Given the description of an element on the screen output the (x, y) to click on. 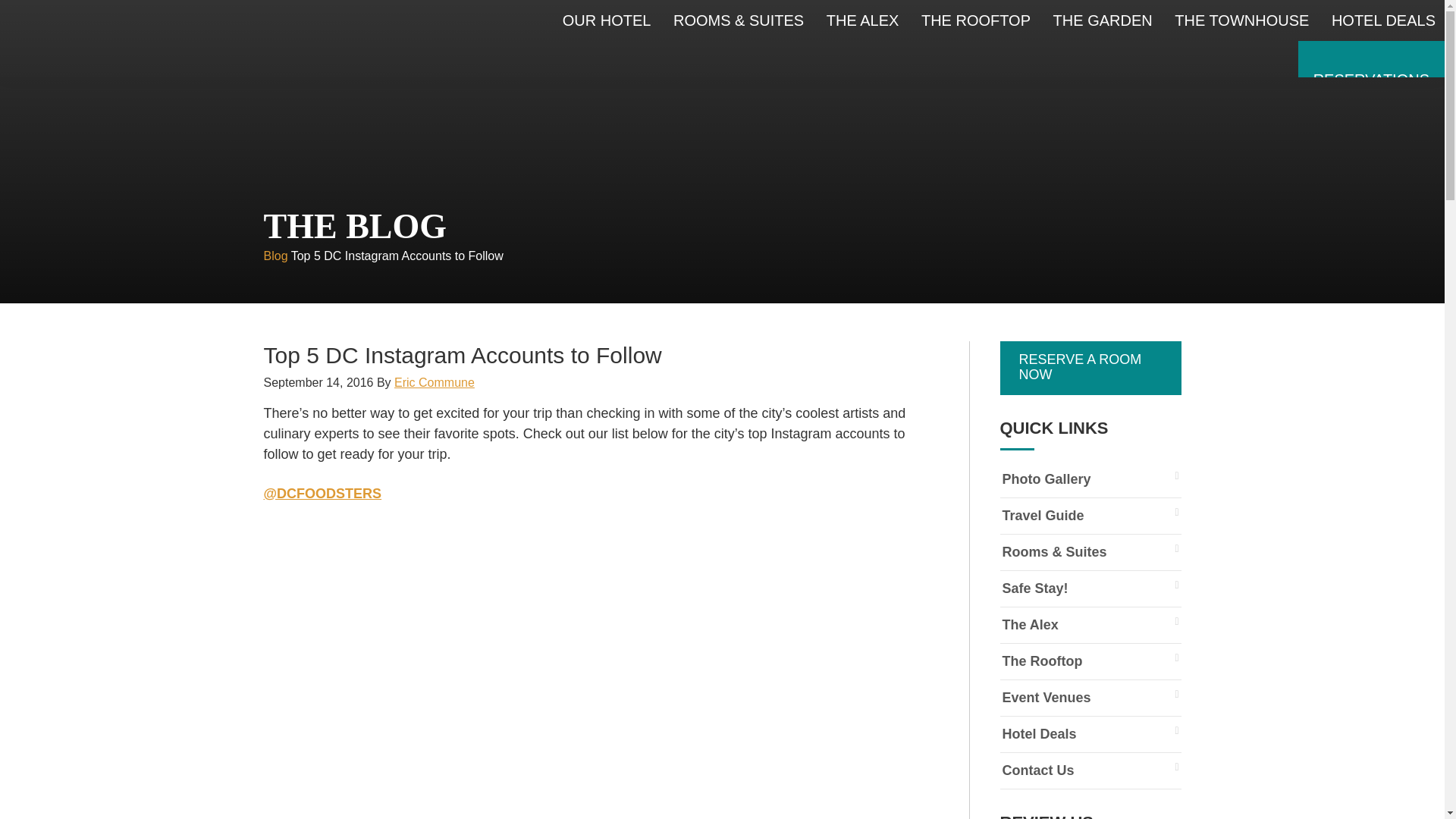
THE GARDEN (1102, 20)
THE TOWNHOUSE (1241, 20)
Blog (275, 255)
THE ROOFTOP (975, 20)
OUR HOTEL (607, 20)
The Alex (1089, 625)
THE ALEX (862, 20)
Eric Commune (434, 382)
Go to Blog. (275, 255)
